Given the description of an element on the screen output the (x, y) to click on. 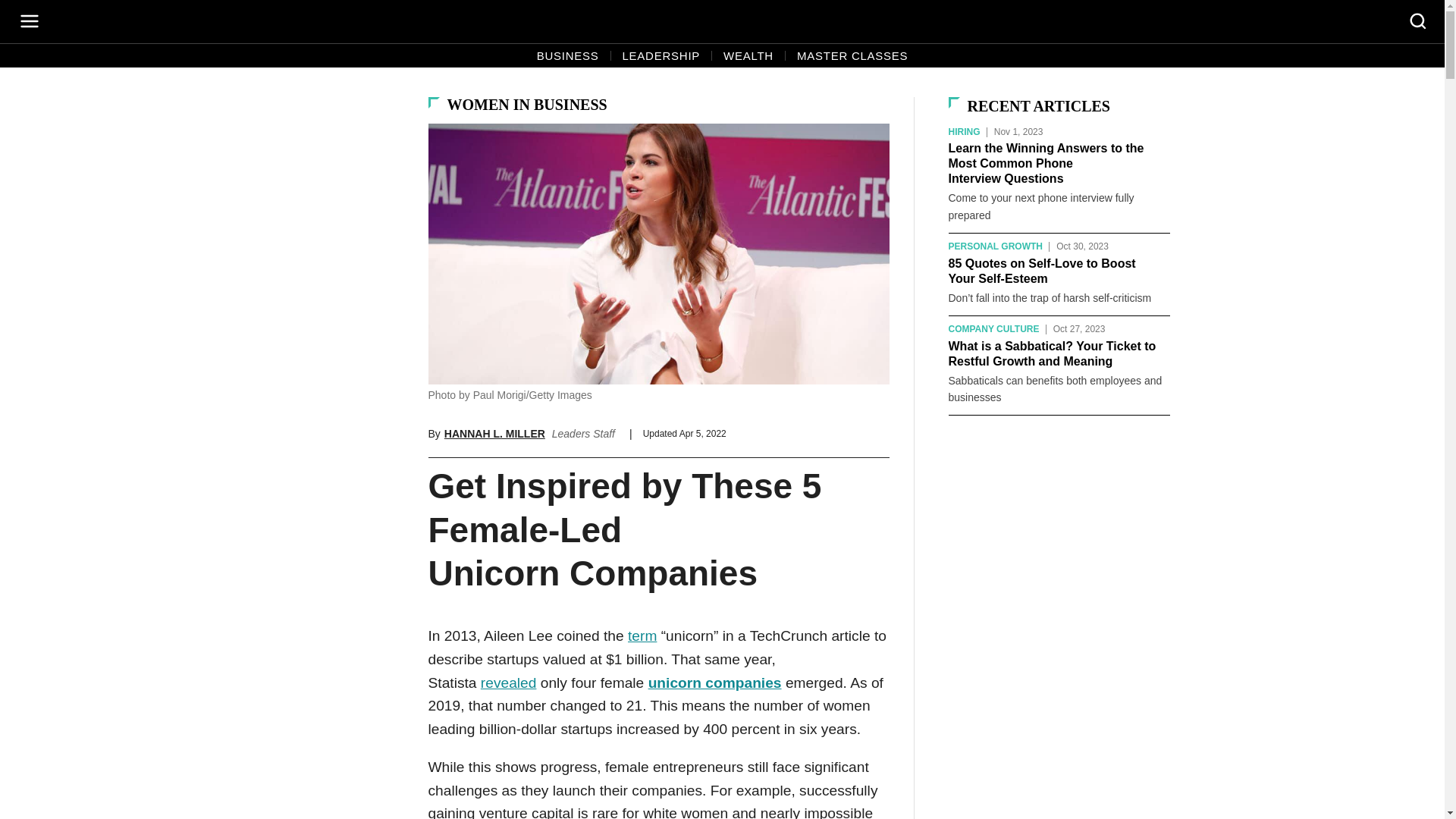
WEALTH (747, 55)
Leaders.com (722, 20)
MASTER CLASSES (852, 55)
HANNAH L. MILLER (494, 433)
LEADERSHIP (661, 55)
WOMEN IN BUSINESS (526, 104)
BUSINESS (567, 55)
